Given the description of an element on the screen output the (x, y) to click on. 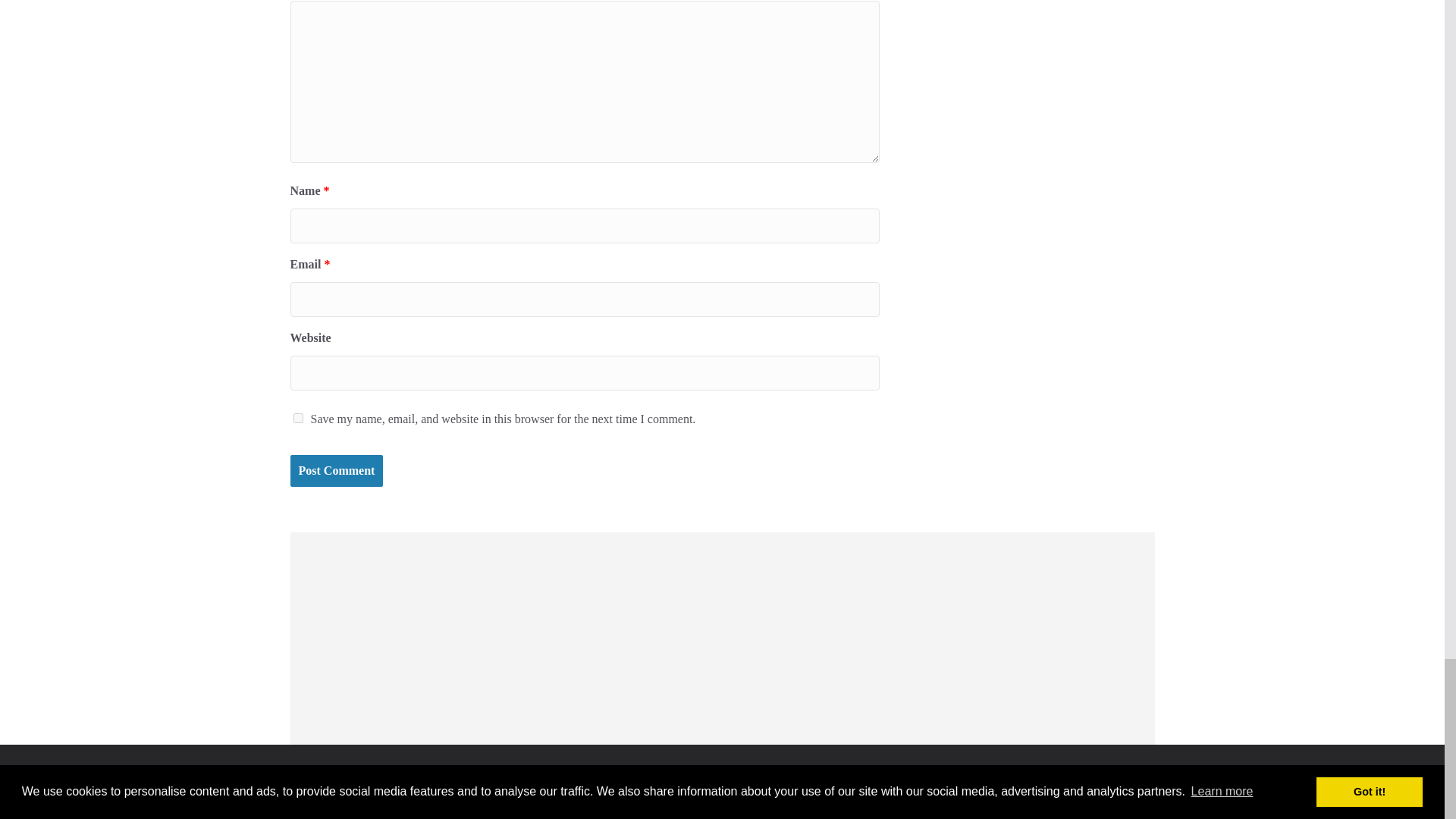
Post Comment (335, 471)
yes (297, 418)
